Given the description of an element on the screen output the (x, y) to click on. 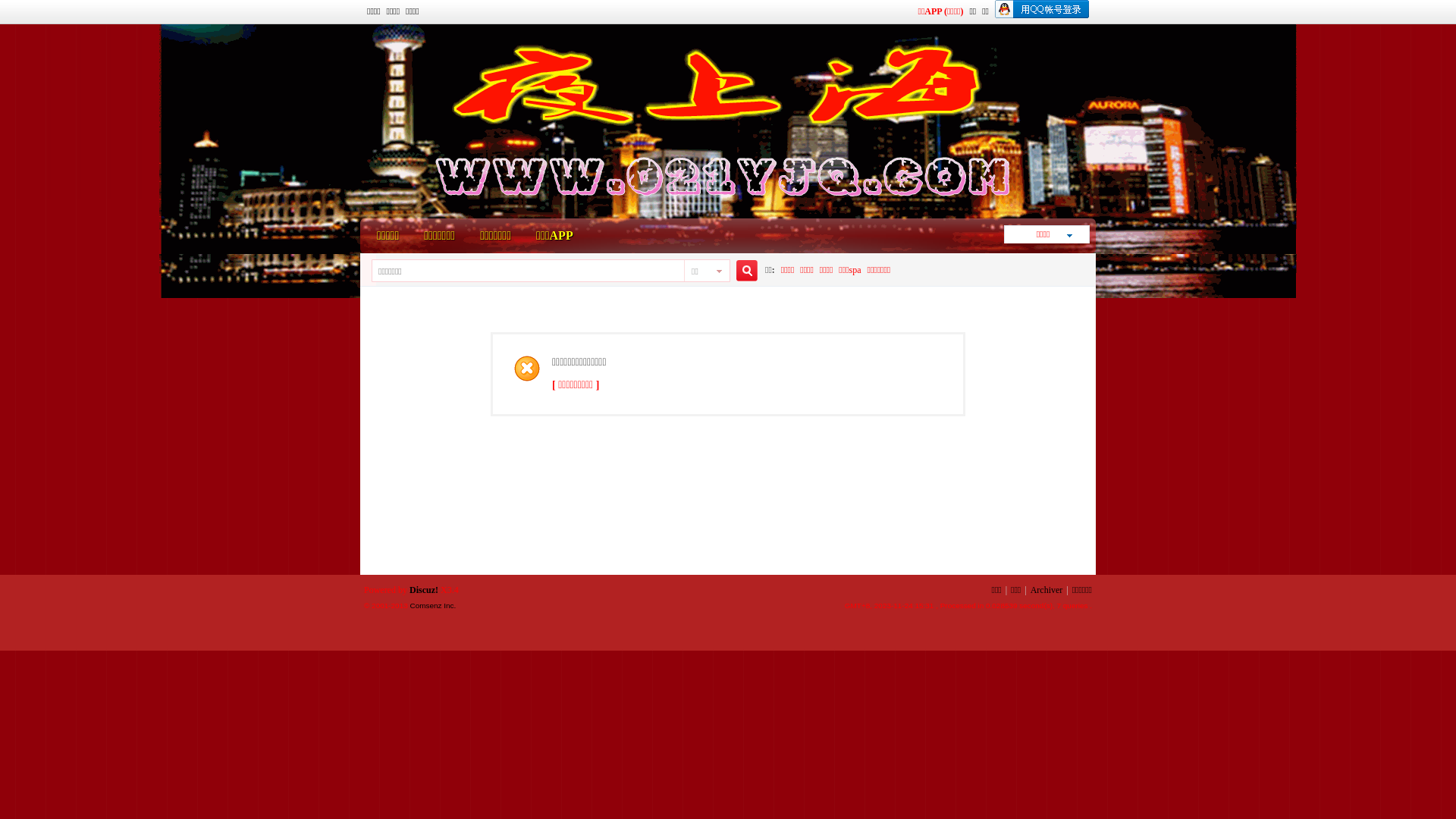
Archiver Element type: text (1046, 589)
Comsenz Inc. Element type: text (432, 605)
true Element type: text (741, 270)
Discuz! Element type: text (423, 589)
